Given the description of an element on the screen output the (x, y) to click on. 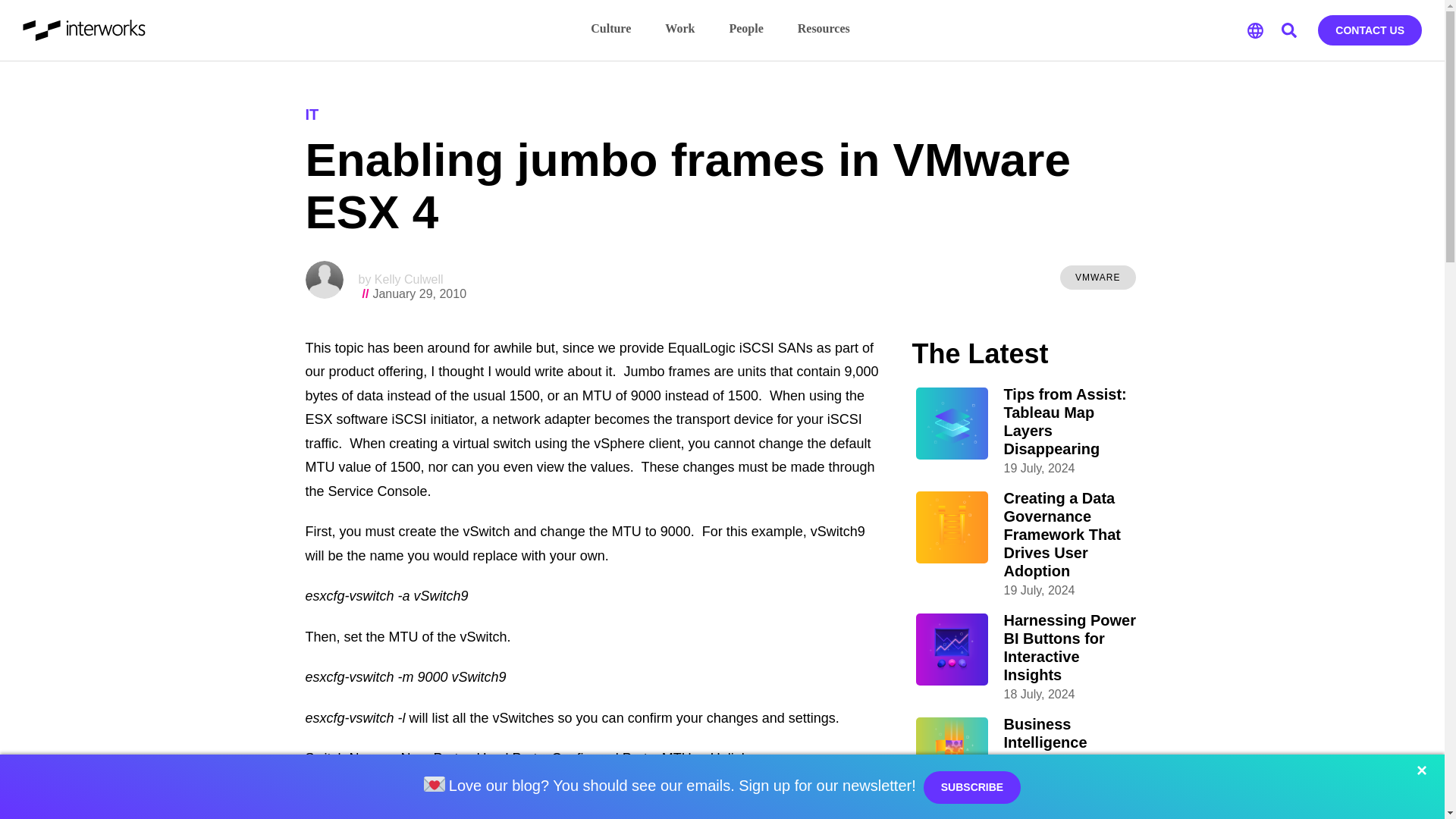
InterWorks (85, 30)
VMWARE (1097, 277)
InterWorks Website (85, 30)
Harnessing Power BI Buttons for Interactive Insights (1072, 646)
Business Intelligence System Maintenance (1072, 750)
CONTACT US (1369, 30)
Tips from Assist: Tableau Map Layers Disappearing (1072, 420)
